Given the description of an element on the screen output the (x, y) to click on. 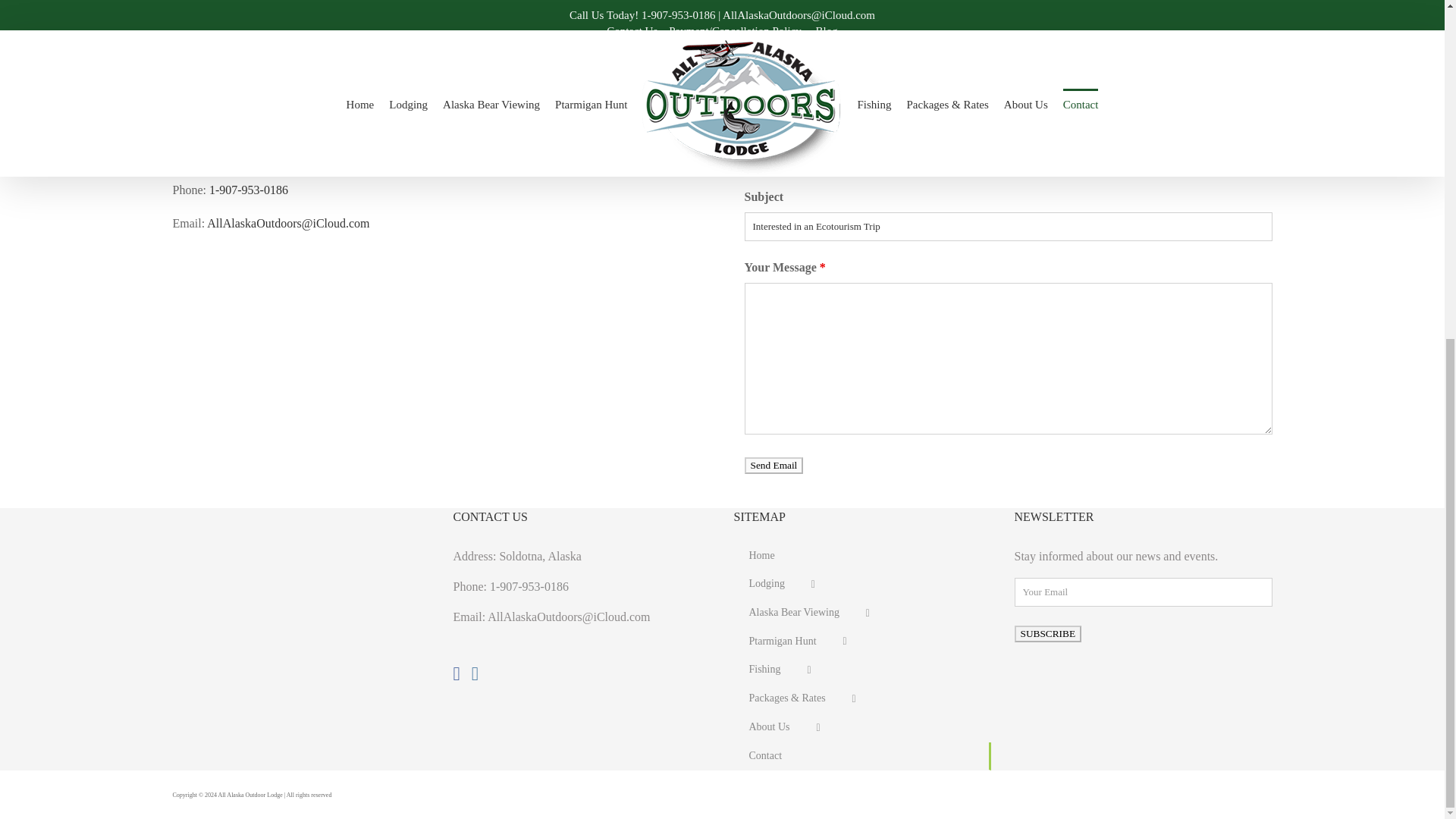
TripAdvisor (1263, 796)
Send Email (773, 465)
Interested in an Ecotourism Trip (1008, 226)
SUBSCRIBE (1047, 633)
